Given the description of an element on the screen output the (x, y) to click on. 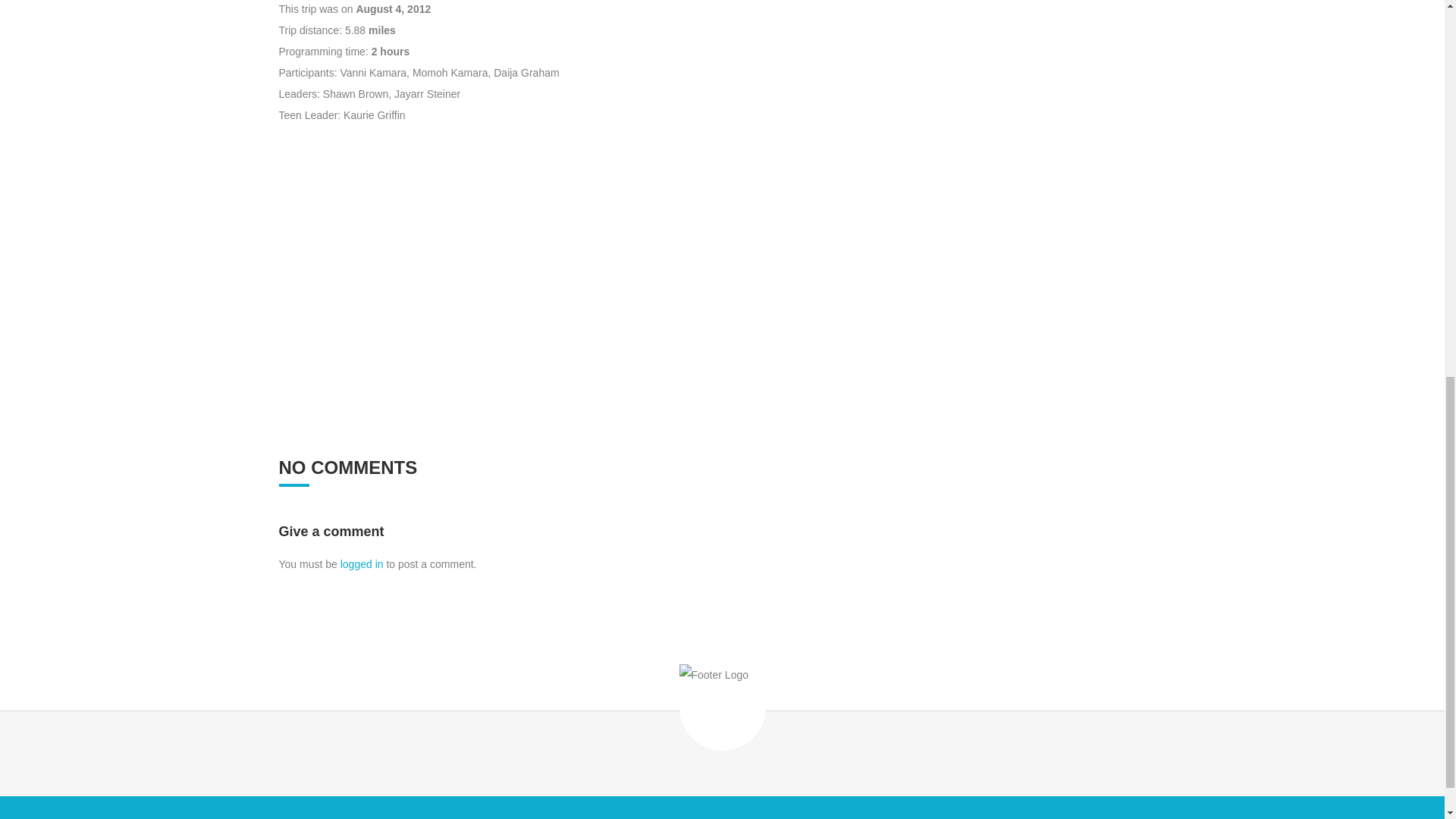
Footer Logo (722, 707)
